Given the description of an element on the screen output the (x, y) to click on. 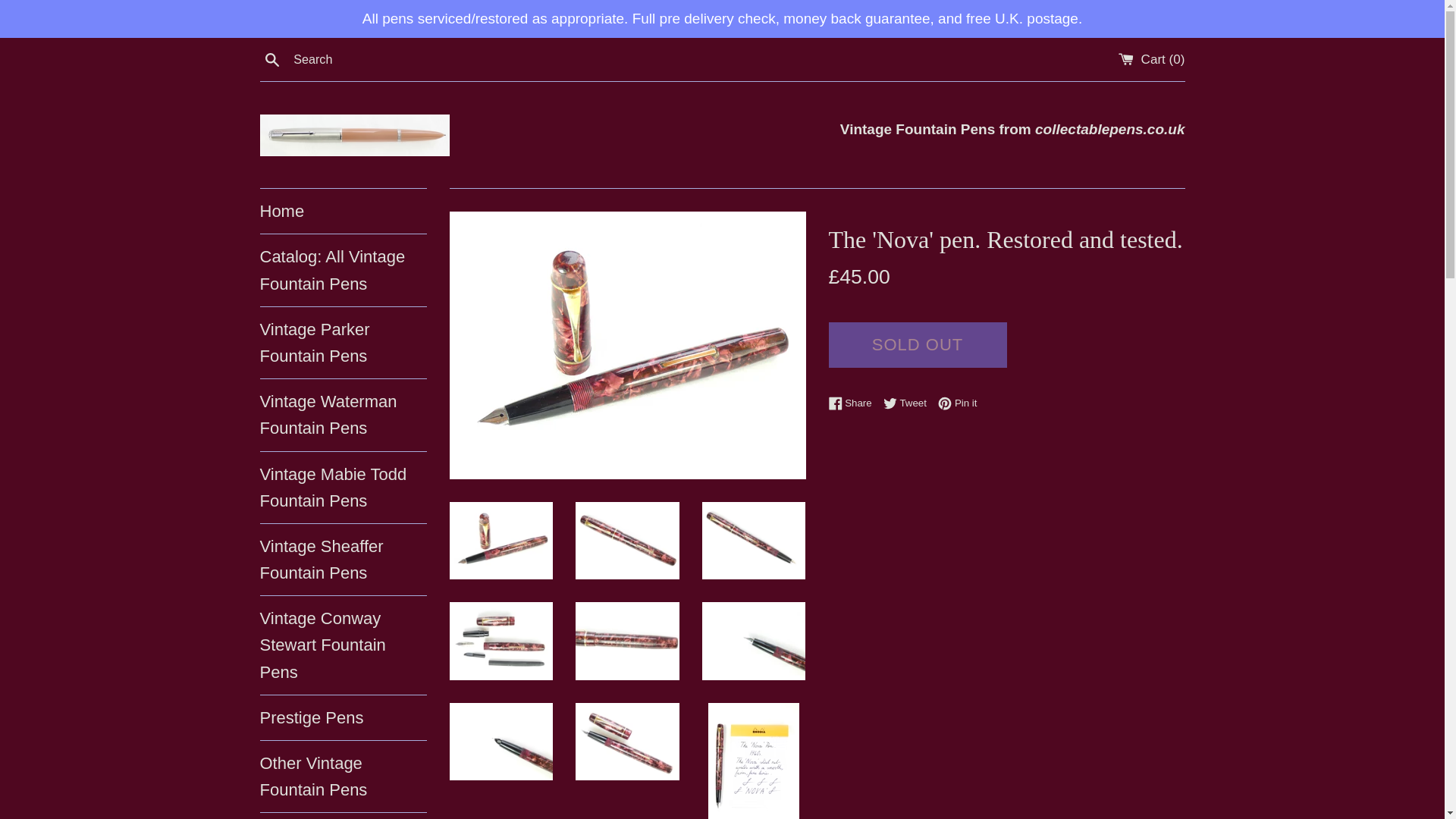
Share on Facebook (853, 402)
Vintage Waterman Fountain Pens (342, 414)
Pin on Pinterest (956, 402)
Vintage Pencils (342, 816)
Prestige Pens (342, 717)
Vintage Parker Fountain Pens (342, 342)
Home (342, 211)
Catalog: All Vintage Fountain Pens (342, 269)
Vintage Sheaffer Fountain Pens (342, 559)
Other Vintage Fountain Pens (342, 776)
